Given the description of an element on the screen output the (x, y) to click on. 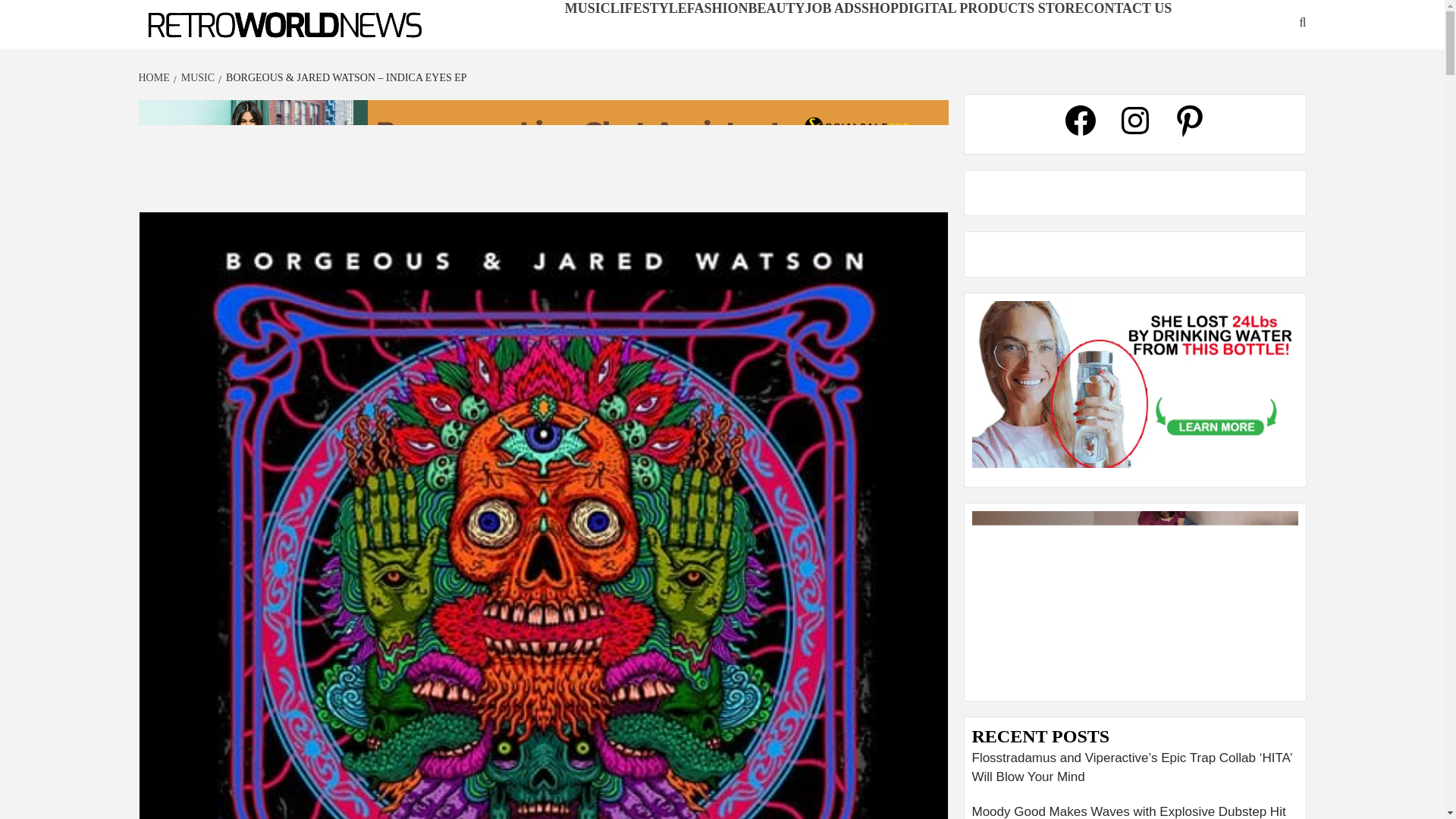
MUSIC (195, 77)
HOME (155, 77)
DIGITAL PRODUCTS STORE (990, 7)
JOB ADS (833, 7)
SHOP (879, 7)
BEAUTY (776, 7)
FASHION (717, 7)
LIFESTYLE (648, 7)
RETROWORLDNEWS (223, 48)
CONTACT US (1127, 7)
